Given the description of an element on the screen output the (x, y) to click on. 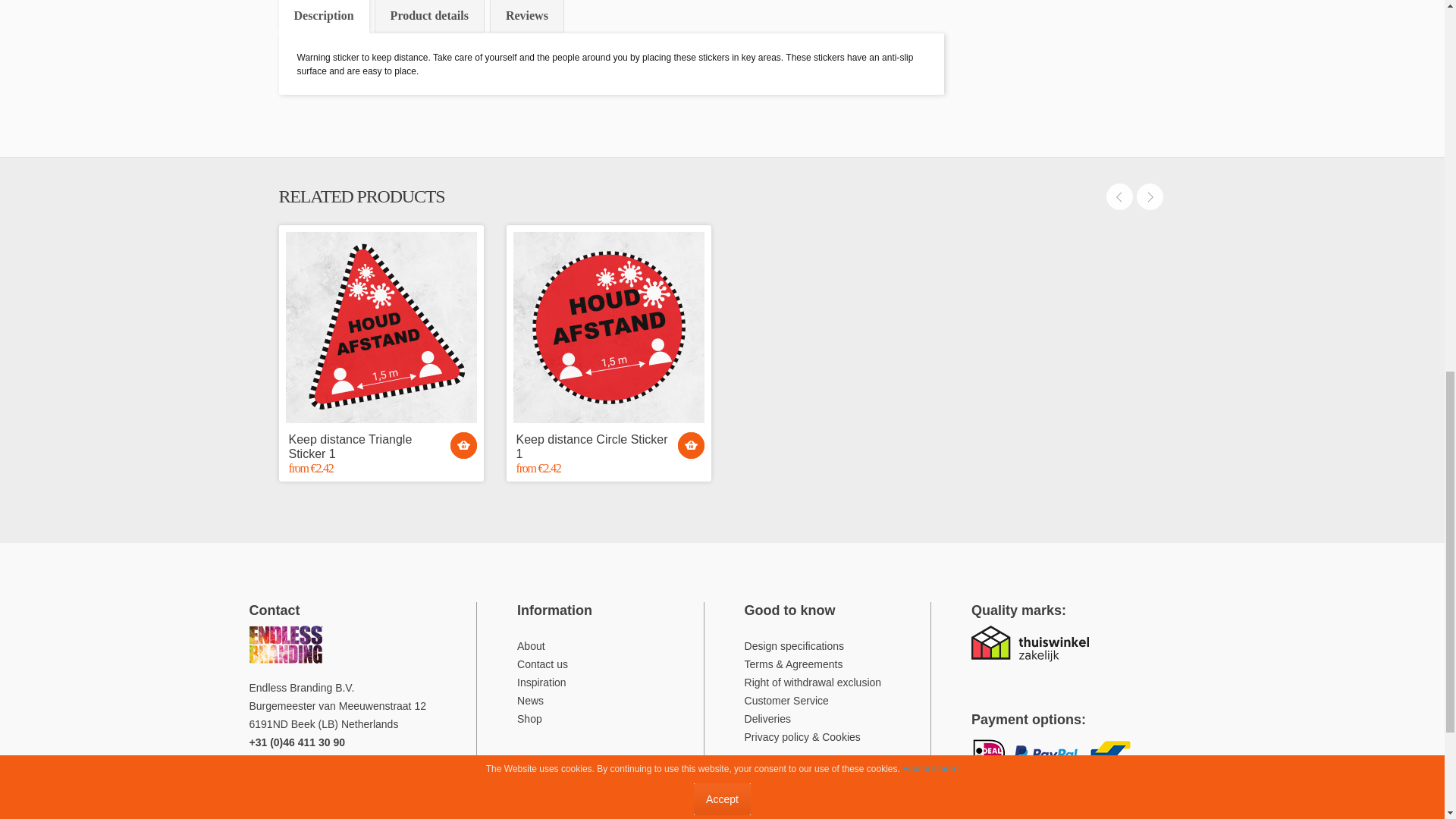
Add to Cart (691, 445)
Keep distance Triangle Sticker 1 (380, 446)
Add to Cart (463, 445)
Keep distance Circle Sticker 1 (607, 327)
Keep distance Triangle Sticker 1 (380, 327)
